Given the description of an element on the screen output the (x, y) to click on. 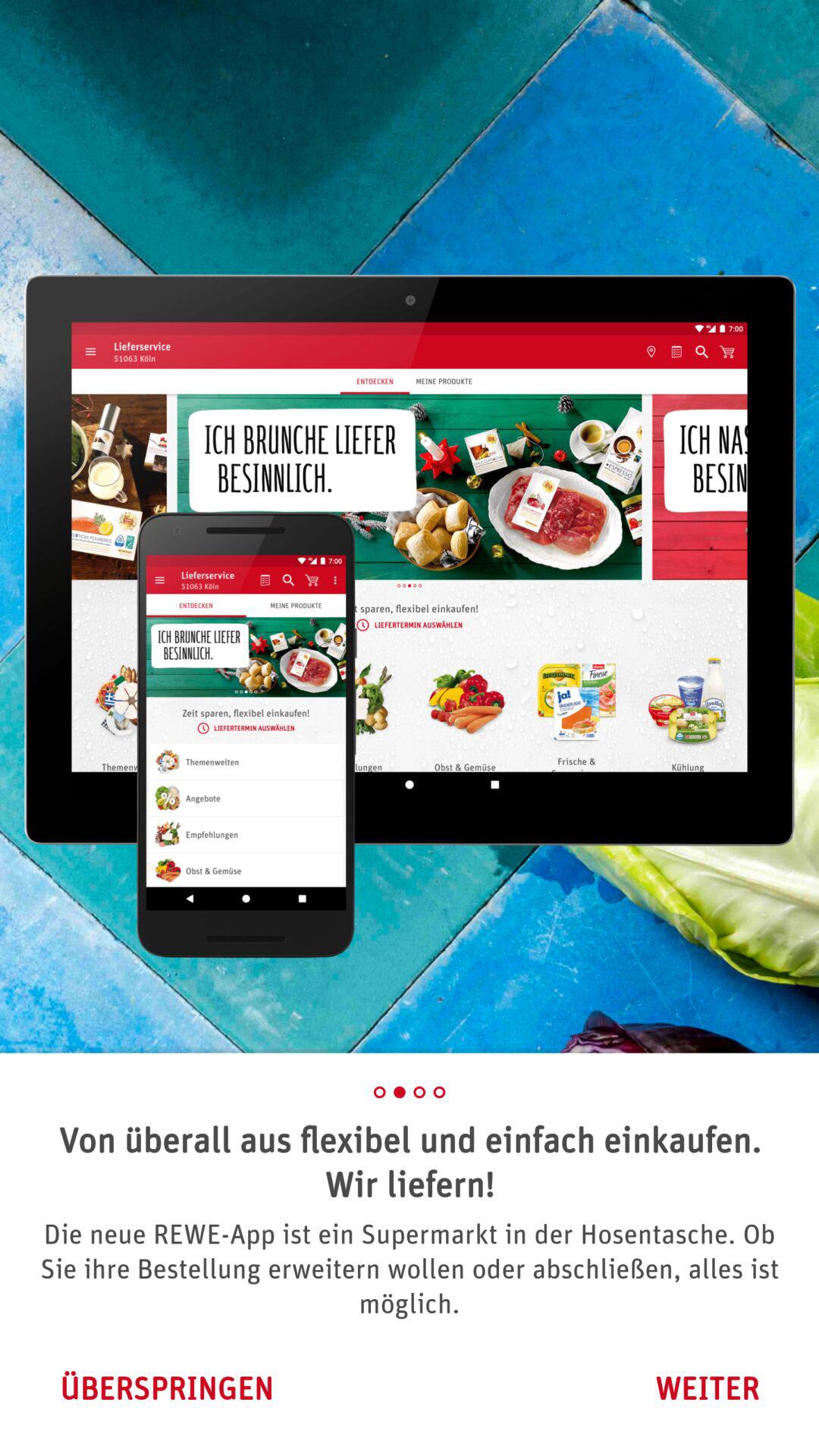
turn off icon at the bottom left corner (166, 1388)
